Given the description of an element on the screen output the (x, y) to click on. 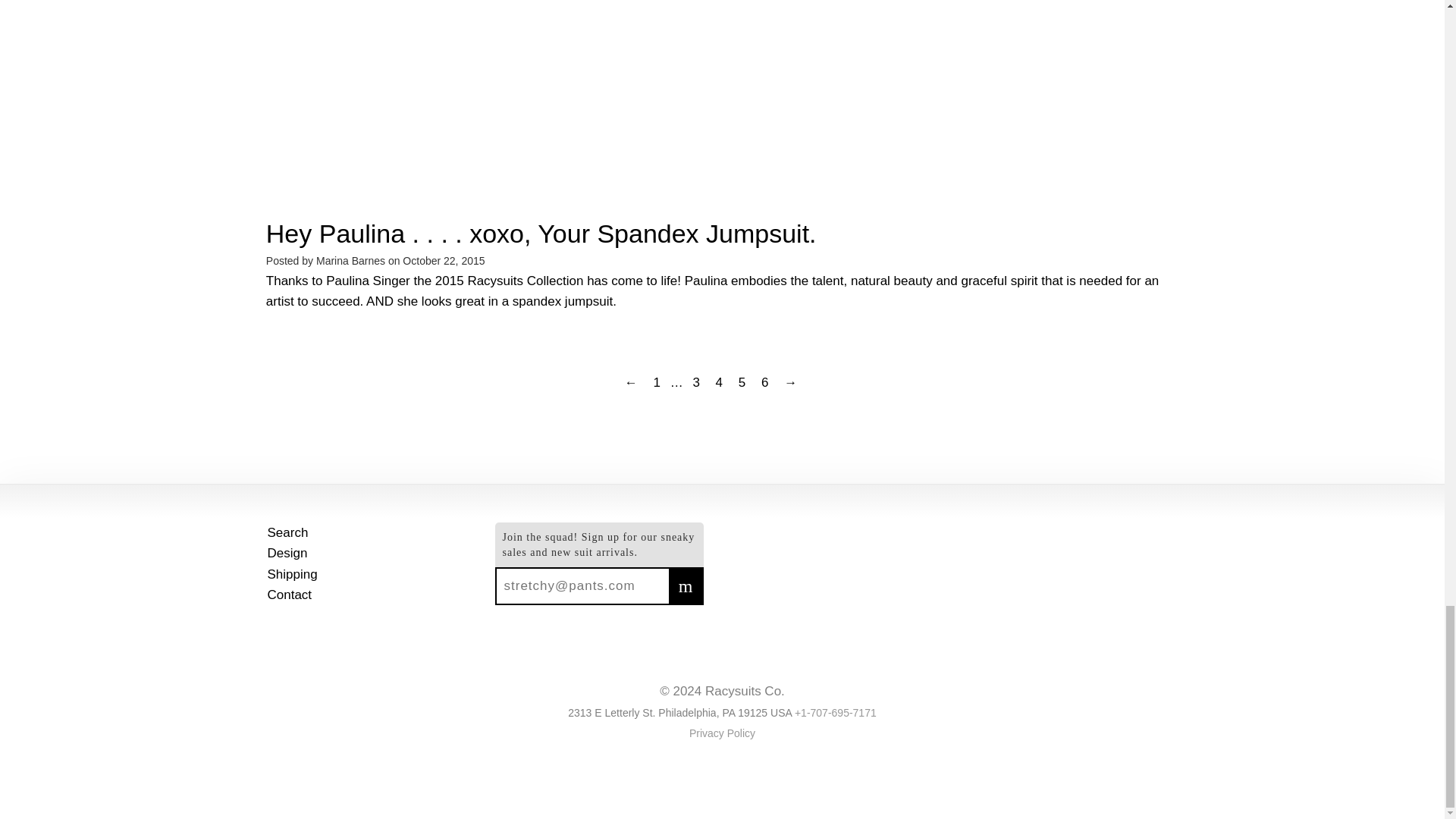
Pennsylvania (728, 712)
Hey Paulina . . . . xoxo, Your Spandex Jumpsuit. (541, 233)
